Given the description of an element on the screen output the (x, y) to click on. 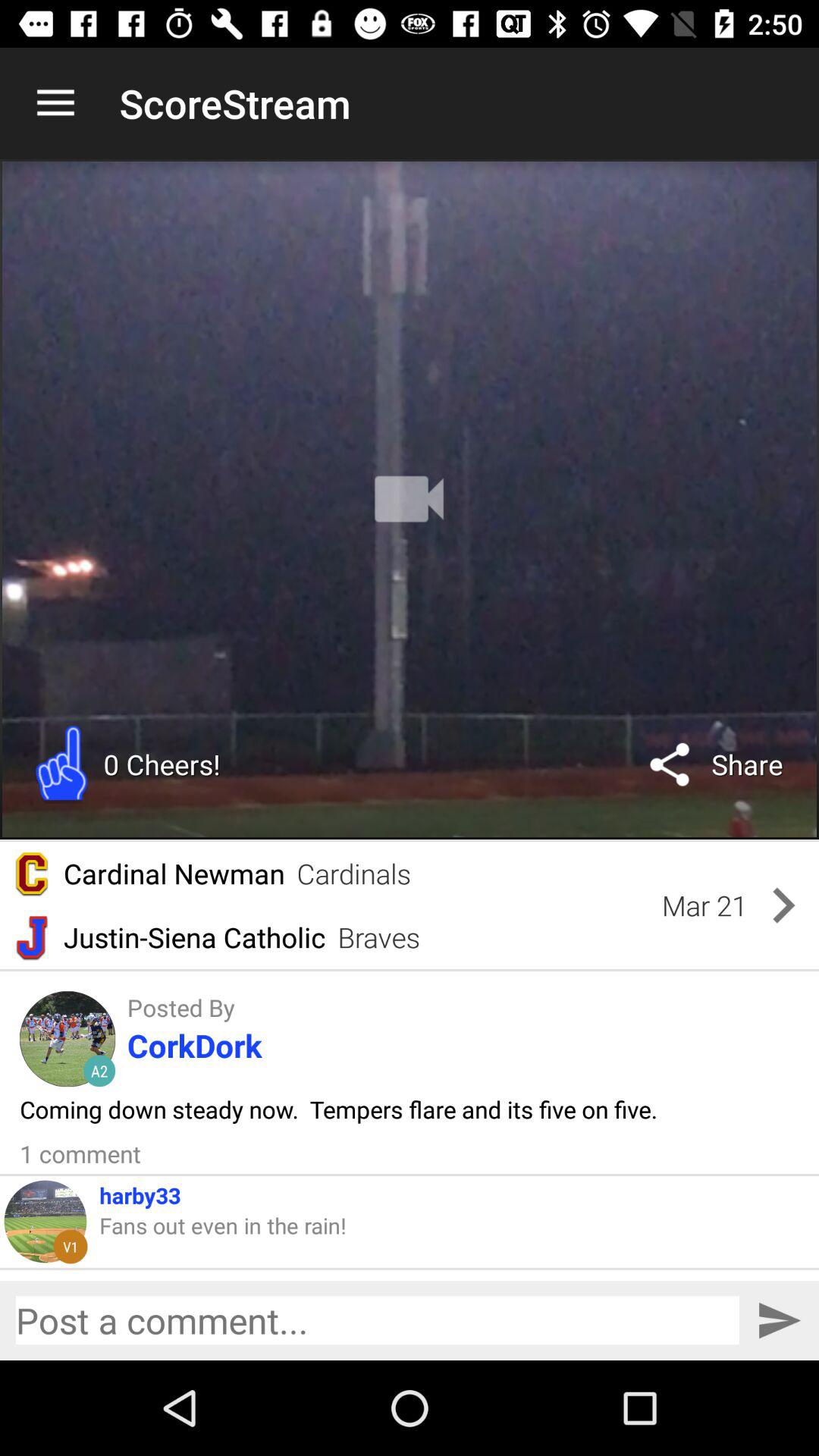
open the item at the bottom right corner (779, 1320)
